Given the description of an element on the screen output the (x, y) to click on. 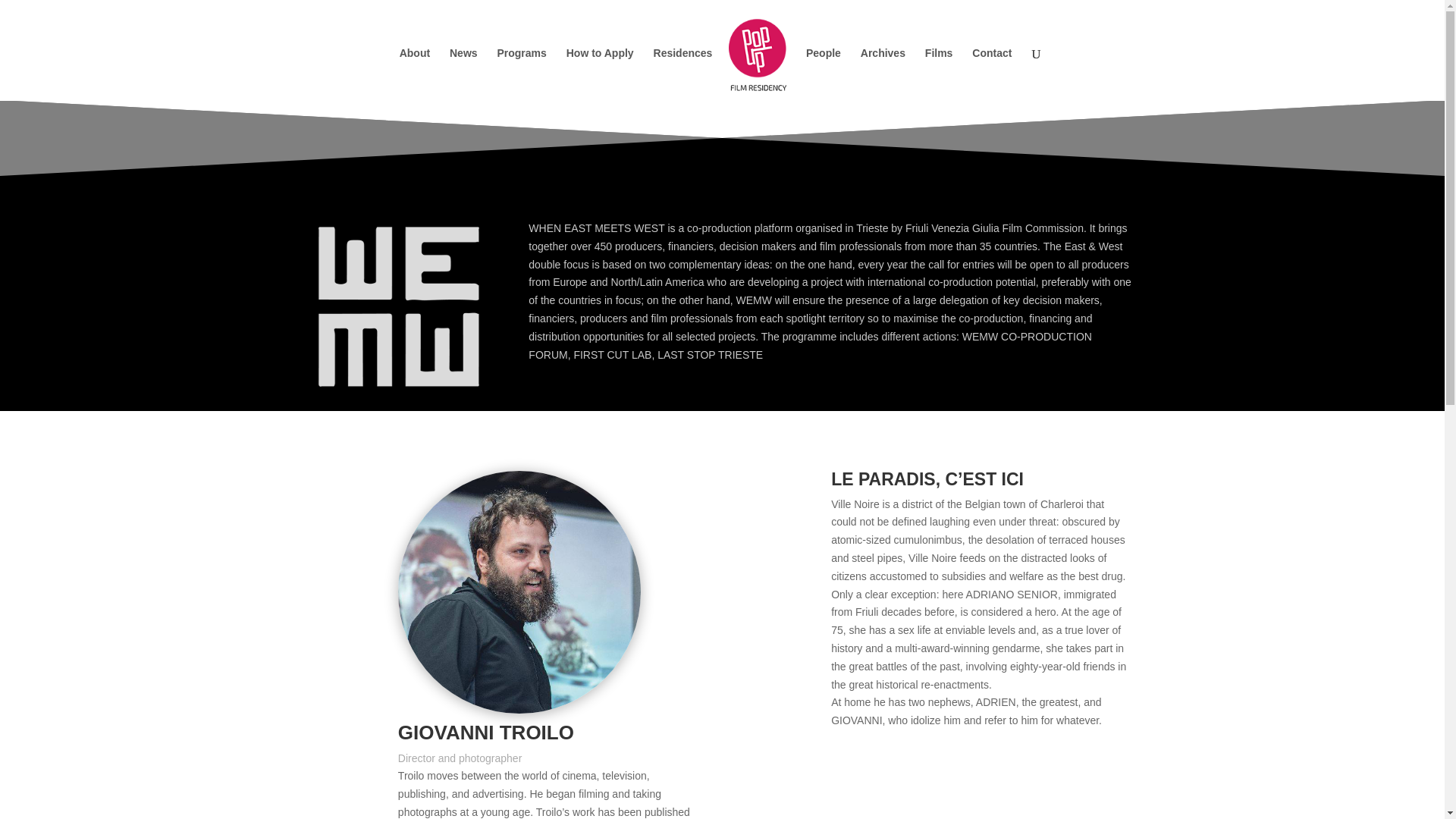
Programs (521, 73)
Residences (683, 73)
How to Apply (599, 73)
